Given the description of an element on the screen output the (x, y) to click on. 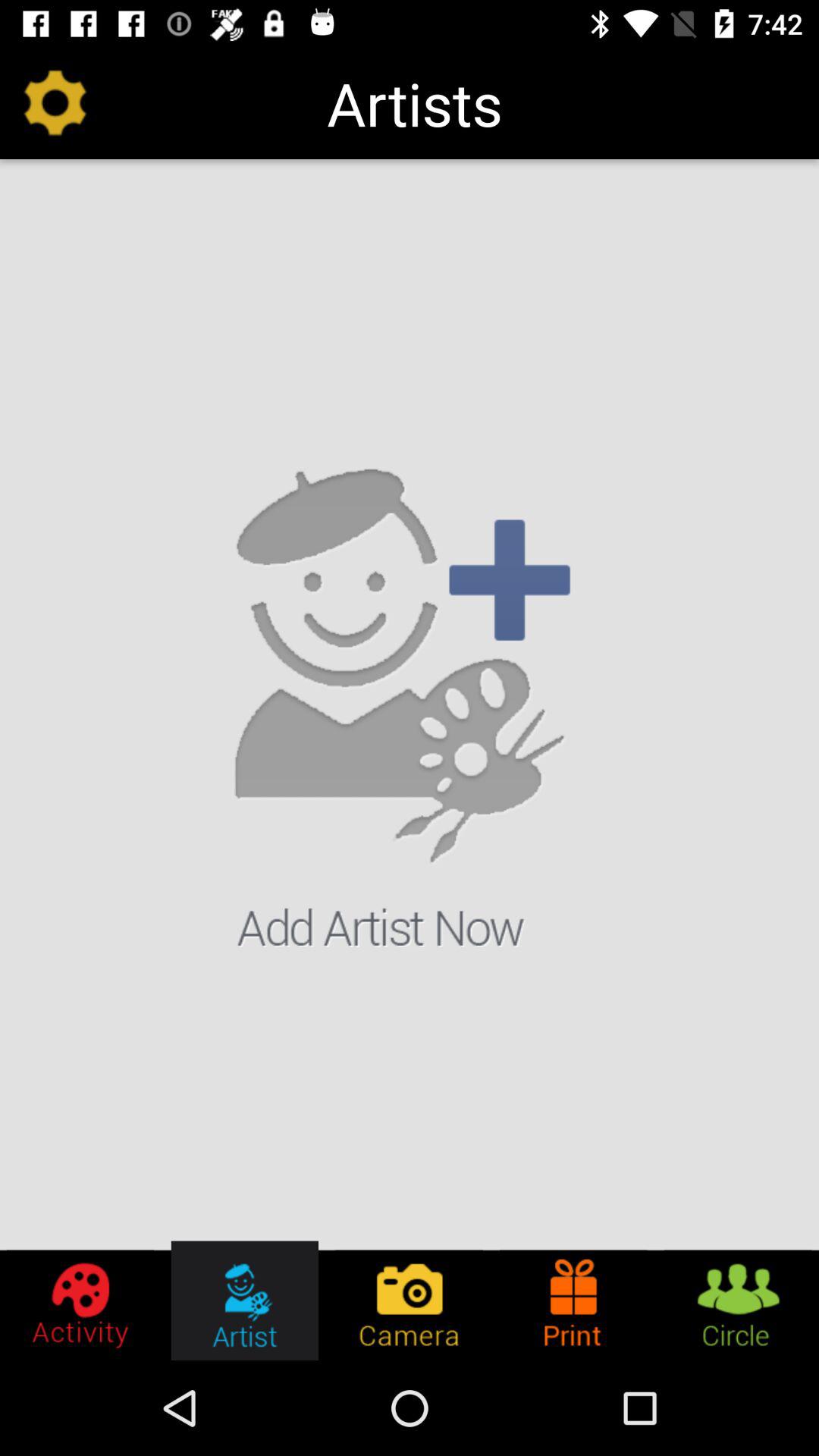
open icon to the left of artists (55, 103)
